Given the description of an element on the screen output the (x, y) to click on. 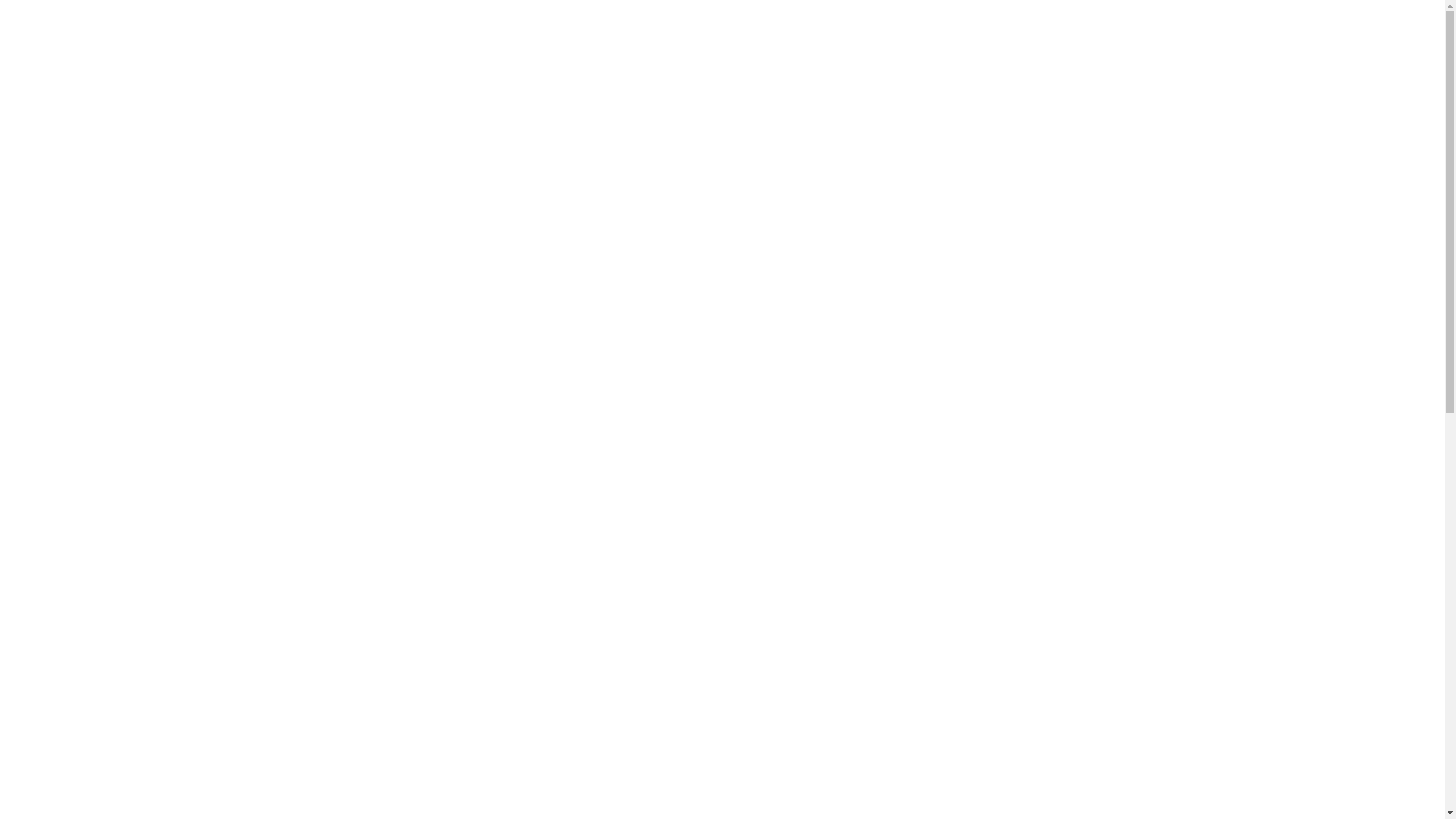
Read More Element type: text (1076, 355)
Reviews Element type: text (121, 307)
Interviews Element type: text (121, 221)
Read More Element type: text (1076, 429)
Video Element type: text (121, 523)
LISTEN LIVE
Real Music. Real Radio. Element type: text (843, 46)
Open Instagram page in new window Element type: text (133, 618)
This Week! Element type: text (121, 437)
Latest Episodes Element type: text (121, 394)
News Element type: text (121, 264)
View All Element type: text (1187, 270)
Calendar Element type: text (121, 480)
Read More Element type: text (1076, 527)
Our Shows Element type: text (121, 350)
Open Facebook page in new window Element type: text (108, 618)
